Given the description of an element on the screen output the (x, y) to click on. 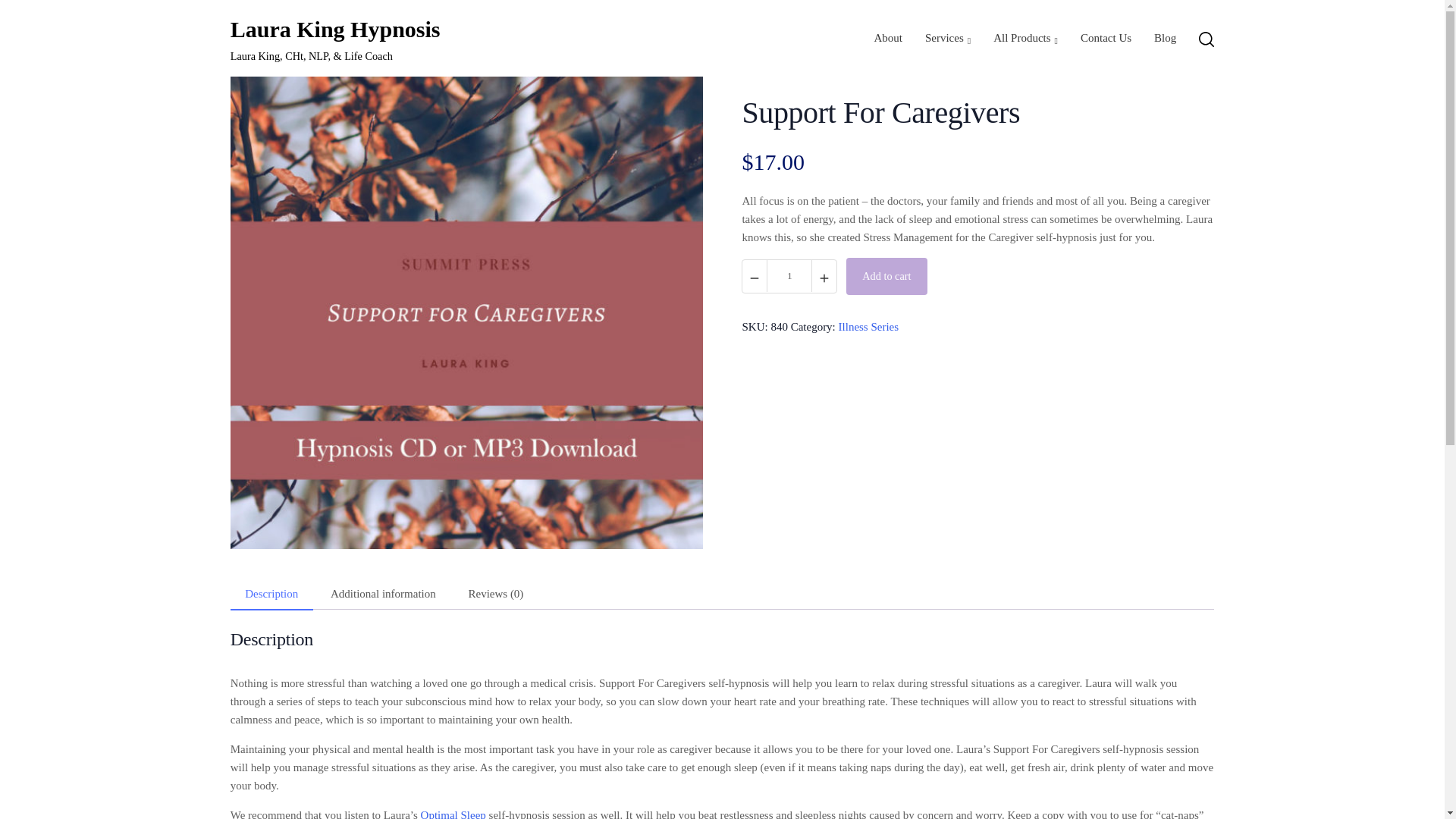
Optimal Sleep (453, 814)
All Products (1025, 37)
Description (271, 594)
Blog (1165, 37)
Services (947, 37)
Illness Series (868, 326)
Contact Us (1105, 37)
Add to cart (886, 275)
Additional information (382, 594)
About (887, 37)
1 (789, 275)
Laura King Hypnosis (335, 28)
